Given the description of an element on the screen output the (x, y) to click on. 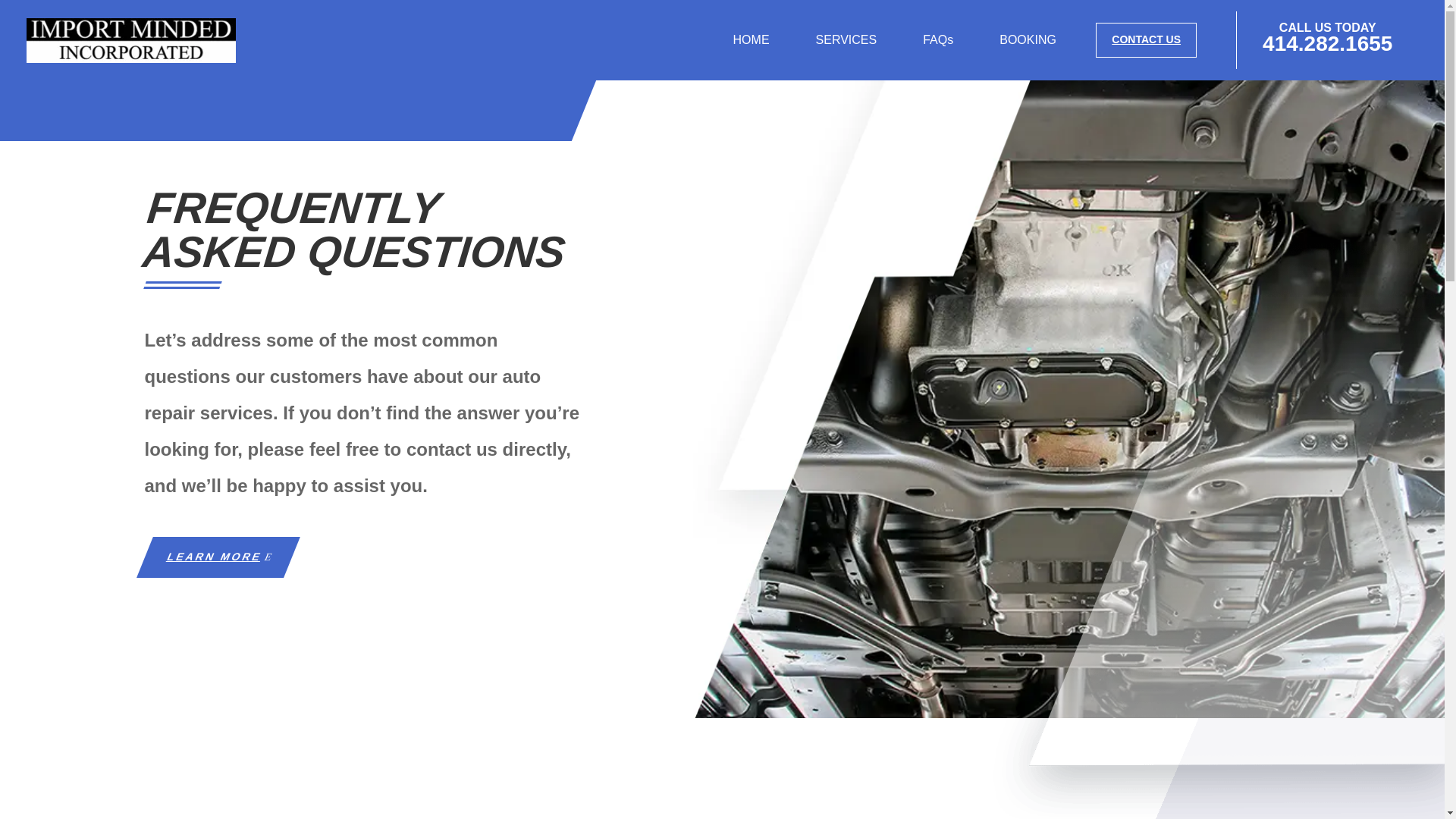
HOME (751, 39)
CONTACT US (1146, 39)
LEARN MORE (209, 557)
FAQs (938, 39)
SERVICES (846, 39)
BOOKING (1027, 39)
